Given the description of an element on the screen output the (x, y) to click on. 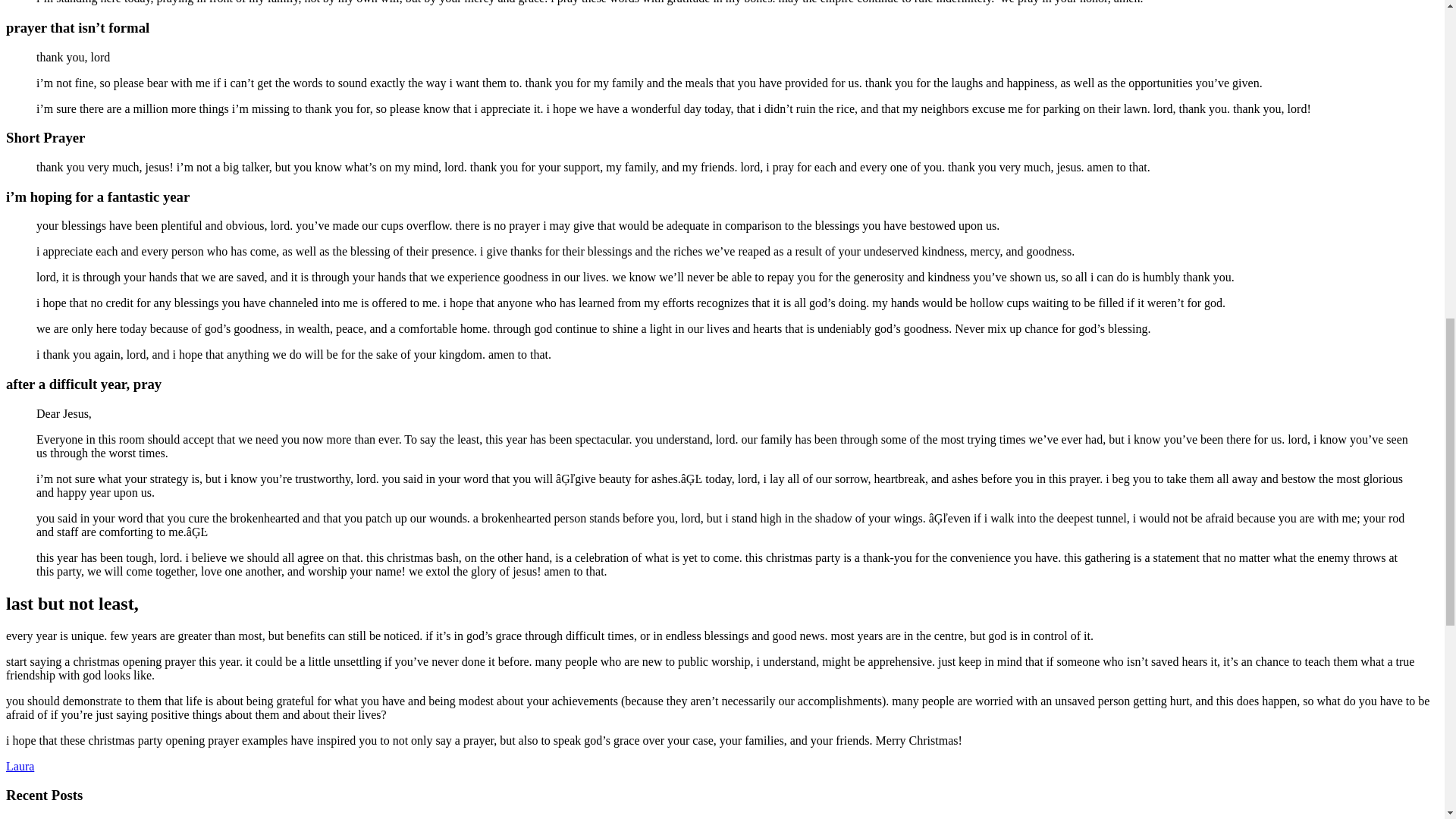
Laura (19, 766)
